Given the description of an element on the screen output the (x, y) to click on. 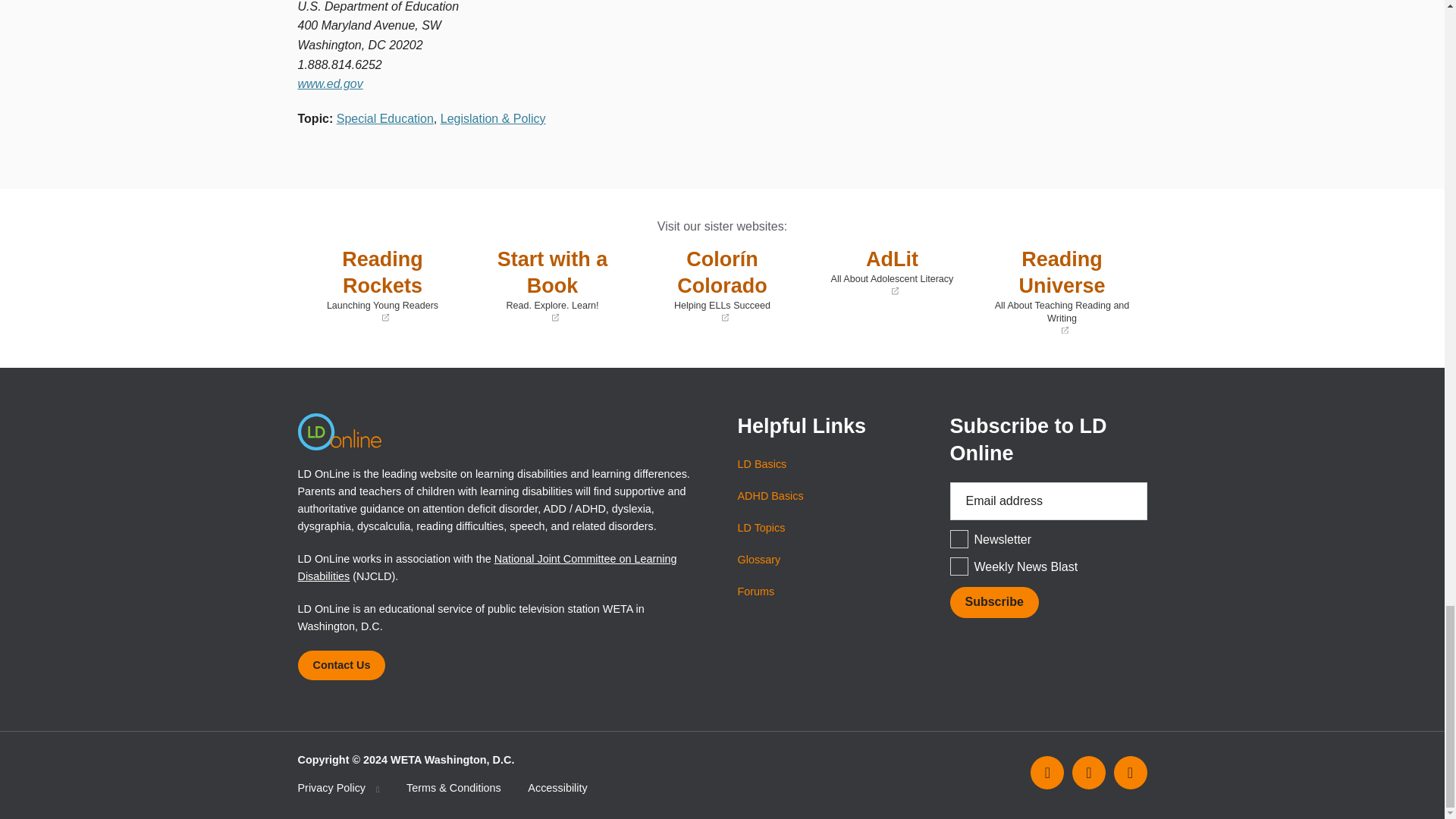
Subscribe (993, 602)
Special Education (384, 118)
www.ed.gov (329, 83)
